Given the description of an element on the screen output the (x, y) to click on. 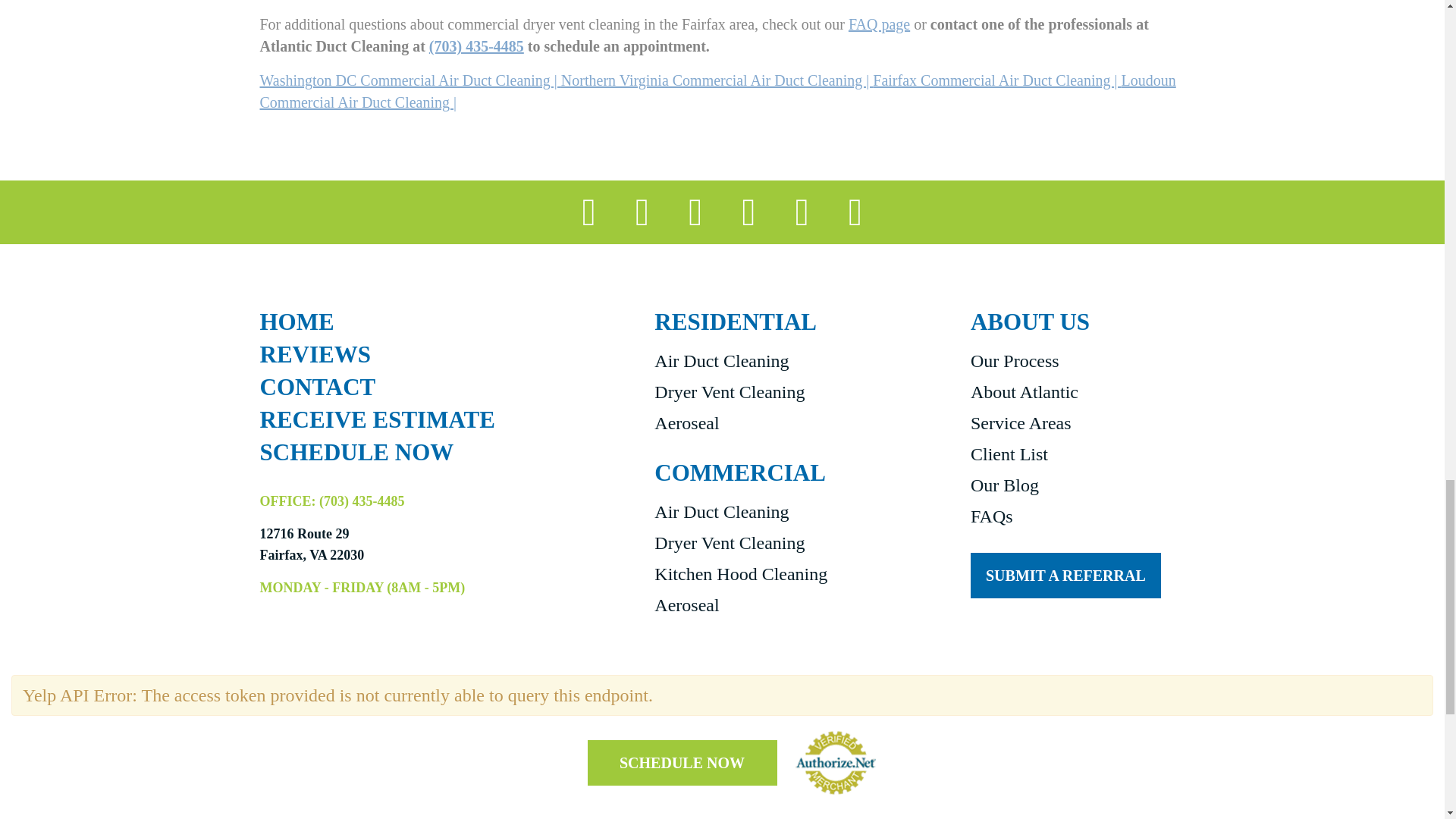
FAQ page (879, 23)
